Given the description of an element on the screen output the (x, y) to click on. 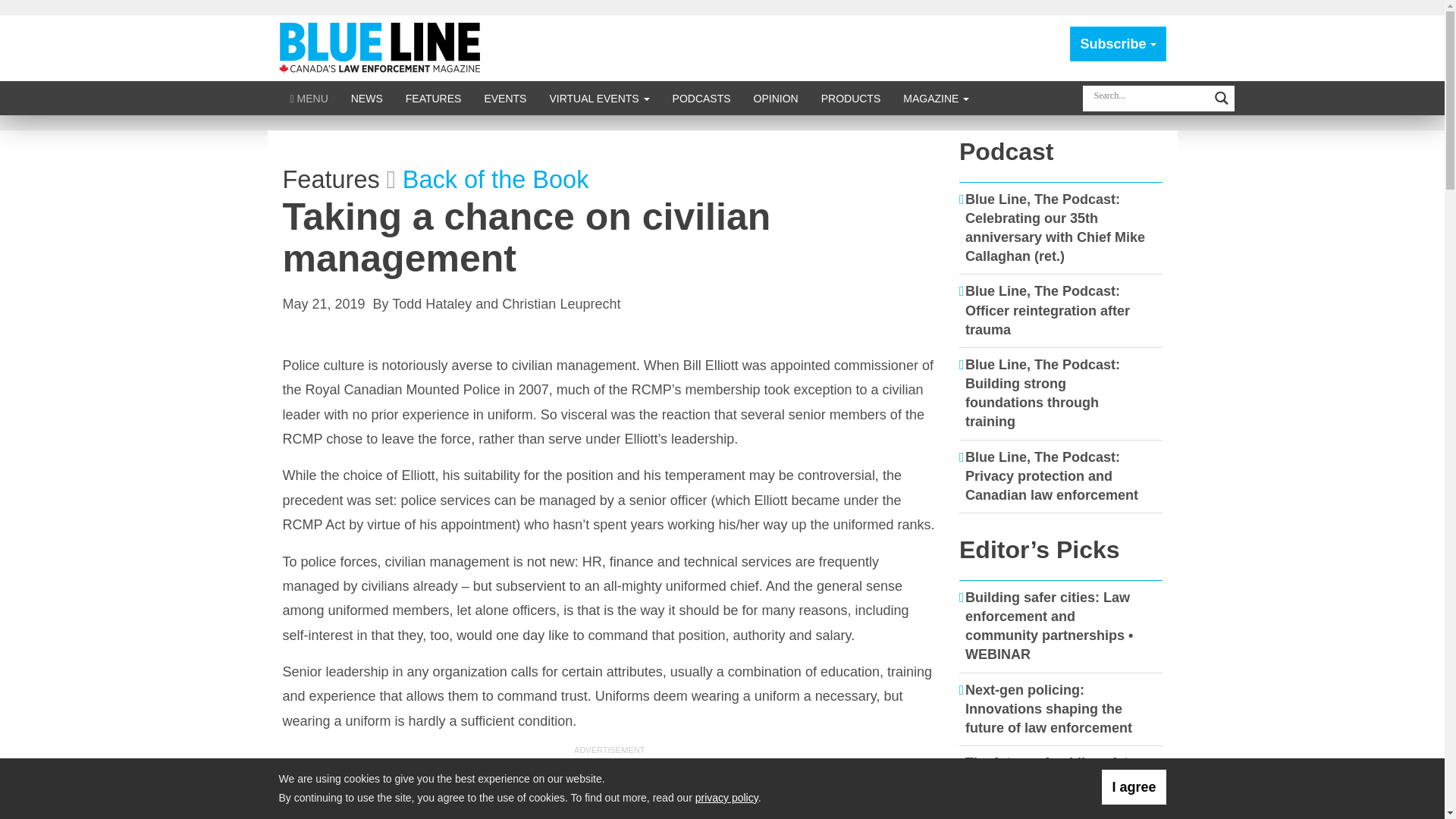
MAGAZINE (935, 98)
FEATURES (433, 98)
PRODUCTS (850, 98)
EVENTS (504, 98)
Blue Line (381, 46)
MENU (309, 98)
VIRTUAL EVENTS (599, 98)
PODCASTS (701, 98)
OPINION (775, 98)
Subscribe (1118, 43)
